Given the description of an element on the screen output the (x, y) to click on. 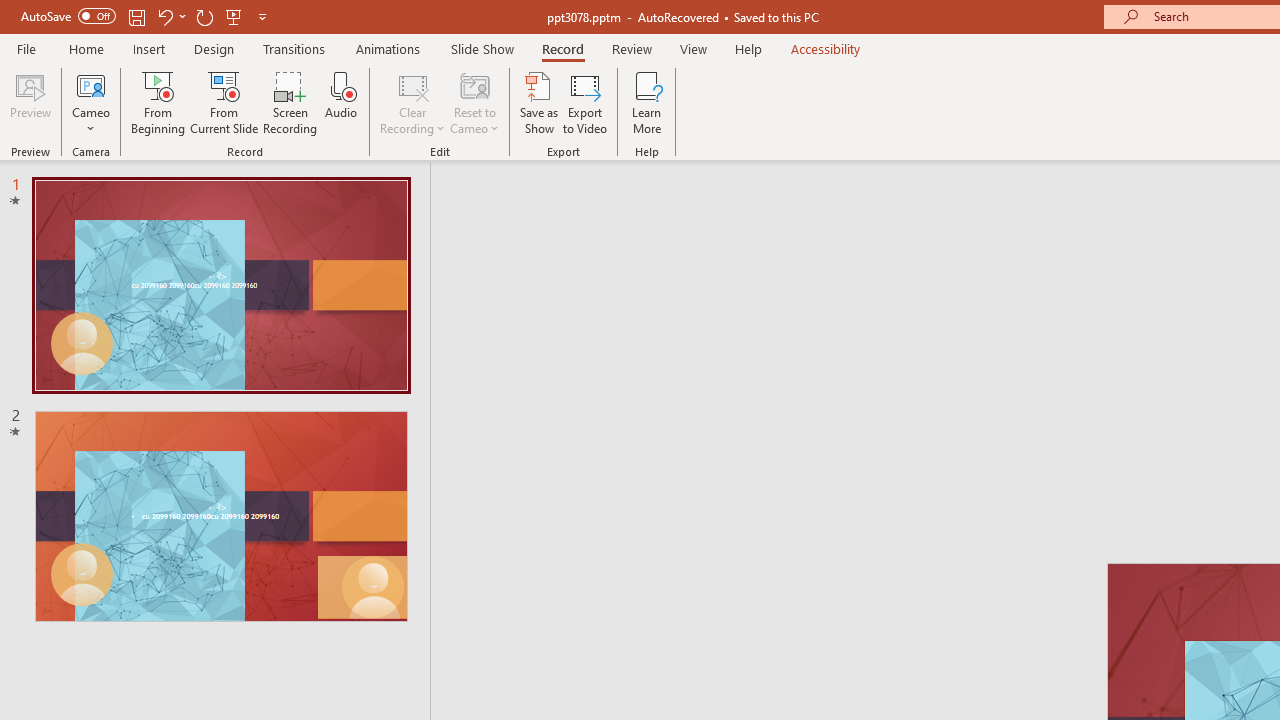
Export to Video (585, 102)
Reset to Cameo (474, 102)
From Current Slide... (224, 102)
